Given the description of an element on the screen output the (x, y) to click on. 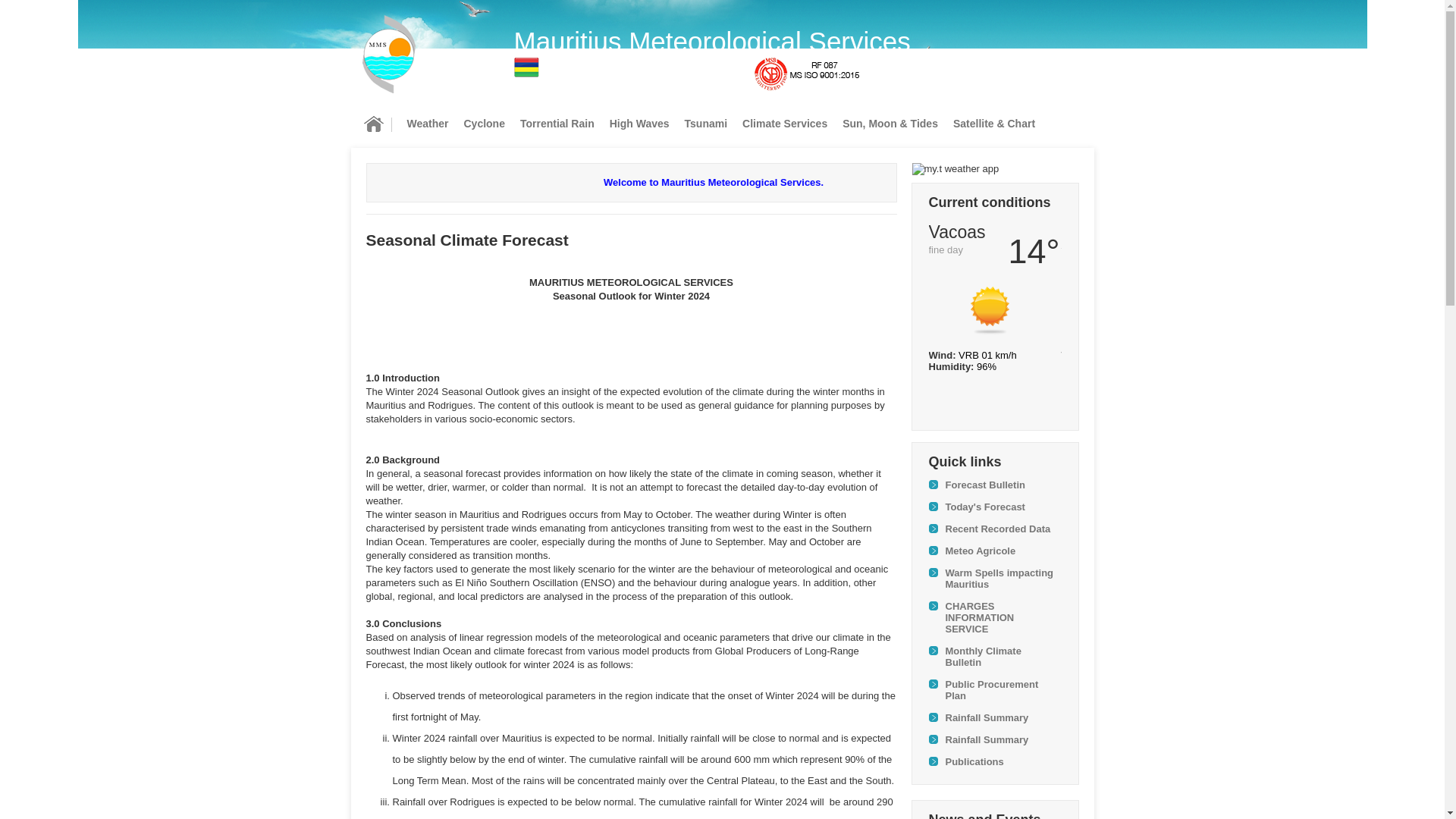
Torrential Rain (557, 123)
Cyclone (483, 123)
Weather (426, 123)
High Waves (639, 123)
Climate Services (784, 123)
Tsunami (706, 123)
